Given the description of an element on the screen output the (x, y) to click on. 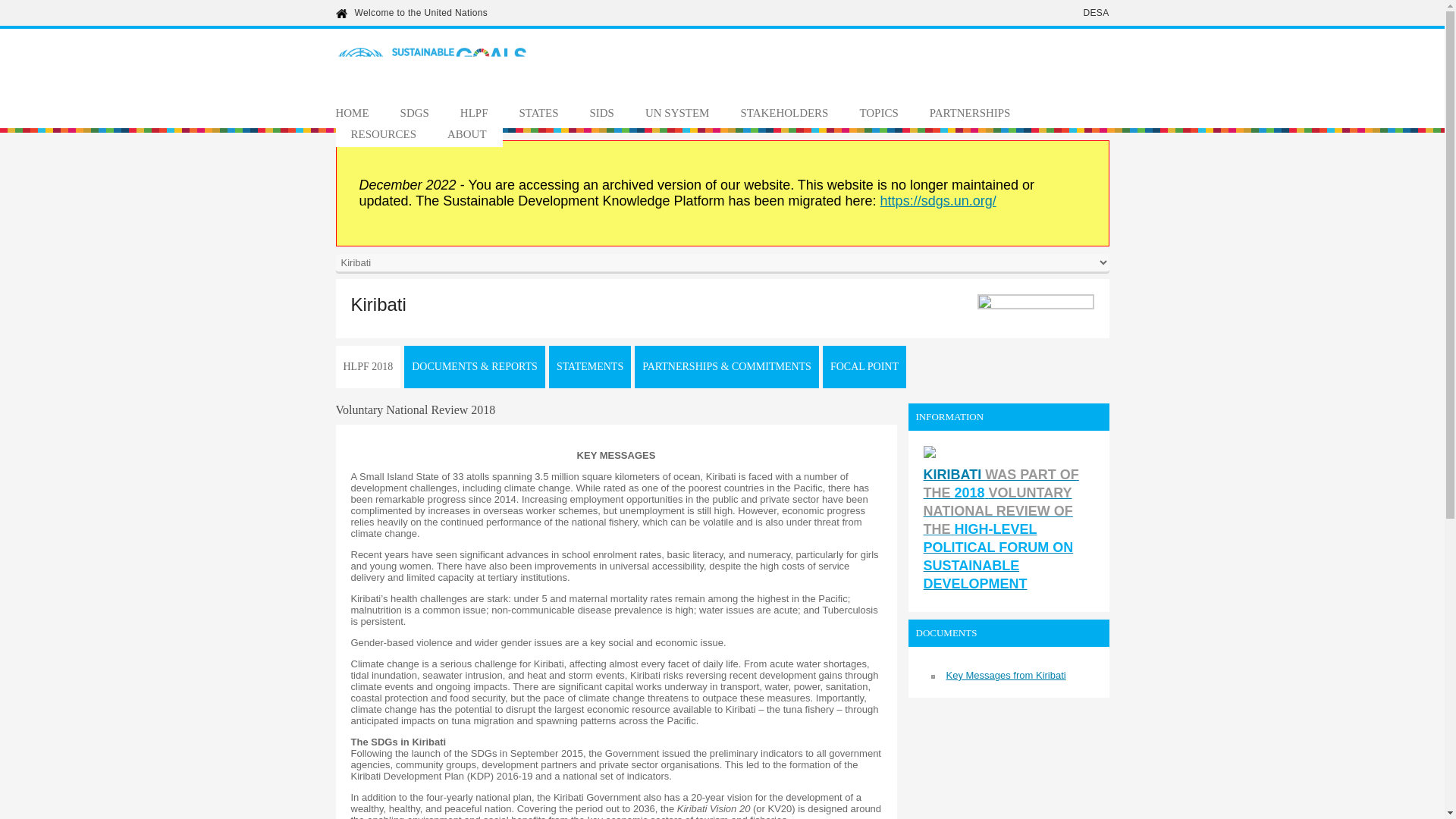
Key Messages from Kiribati (1005, 674)
DESA (1095, 12)
Welcome to the United Nations (421, 12)
HLPF 2018 (367, 366)
STATEMENTS (589, 366)
FOCAL POINT (863, 366)
